Given the description of an element on the screen output the (x, y) to click on. 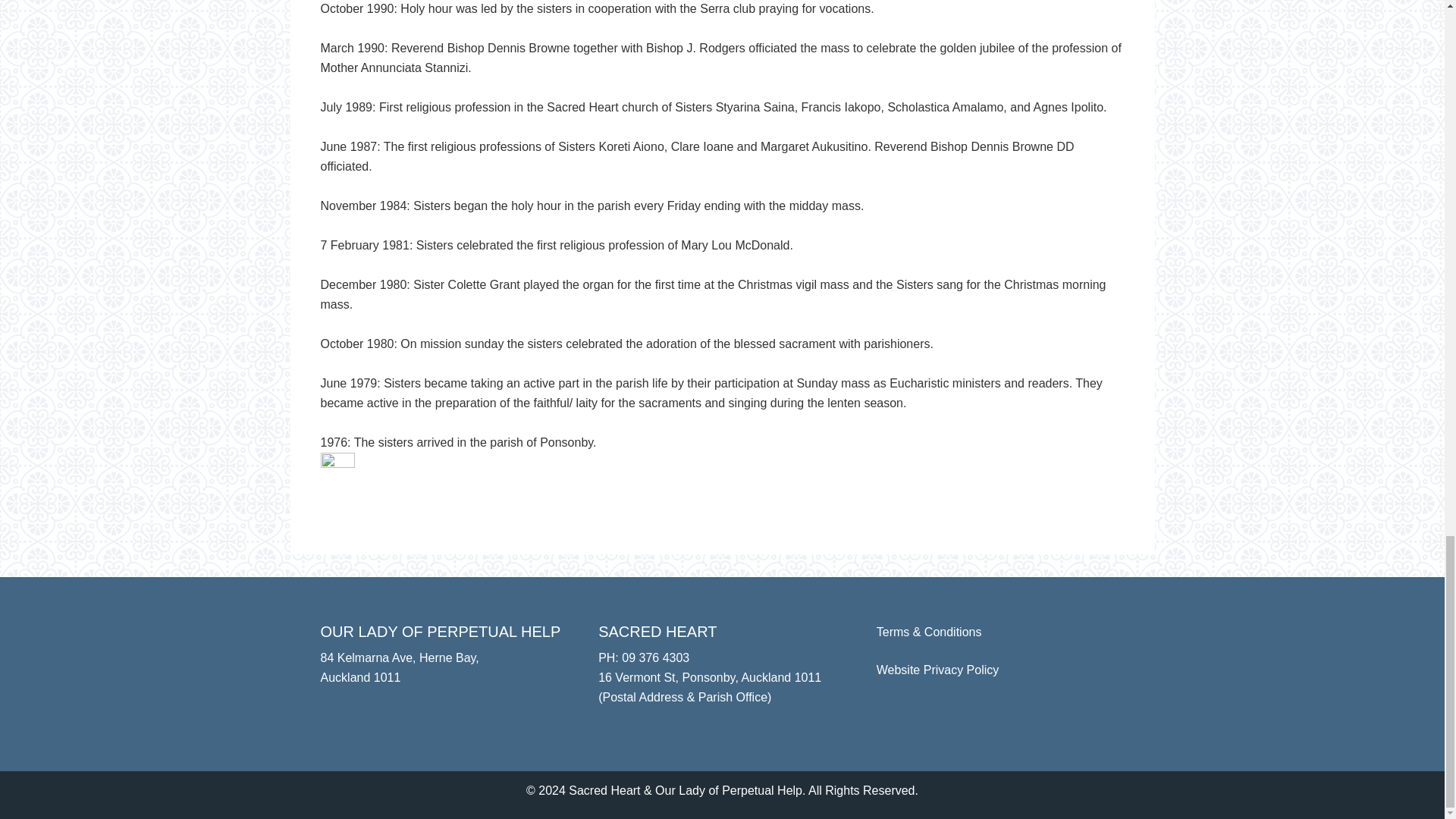
Website Privacy Policy (937, 669)
